Given the description of an element on the screen output the (x, y) to click on. 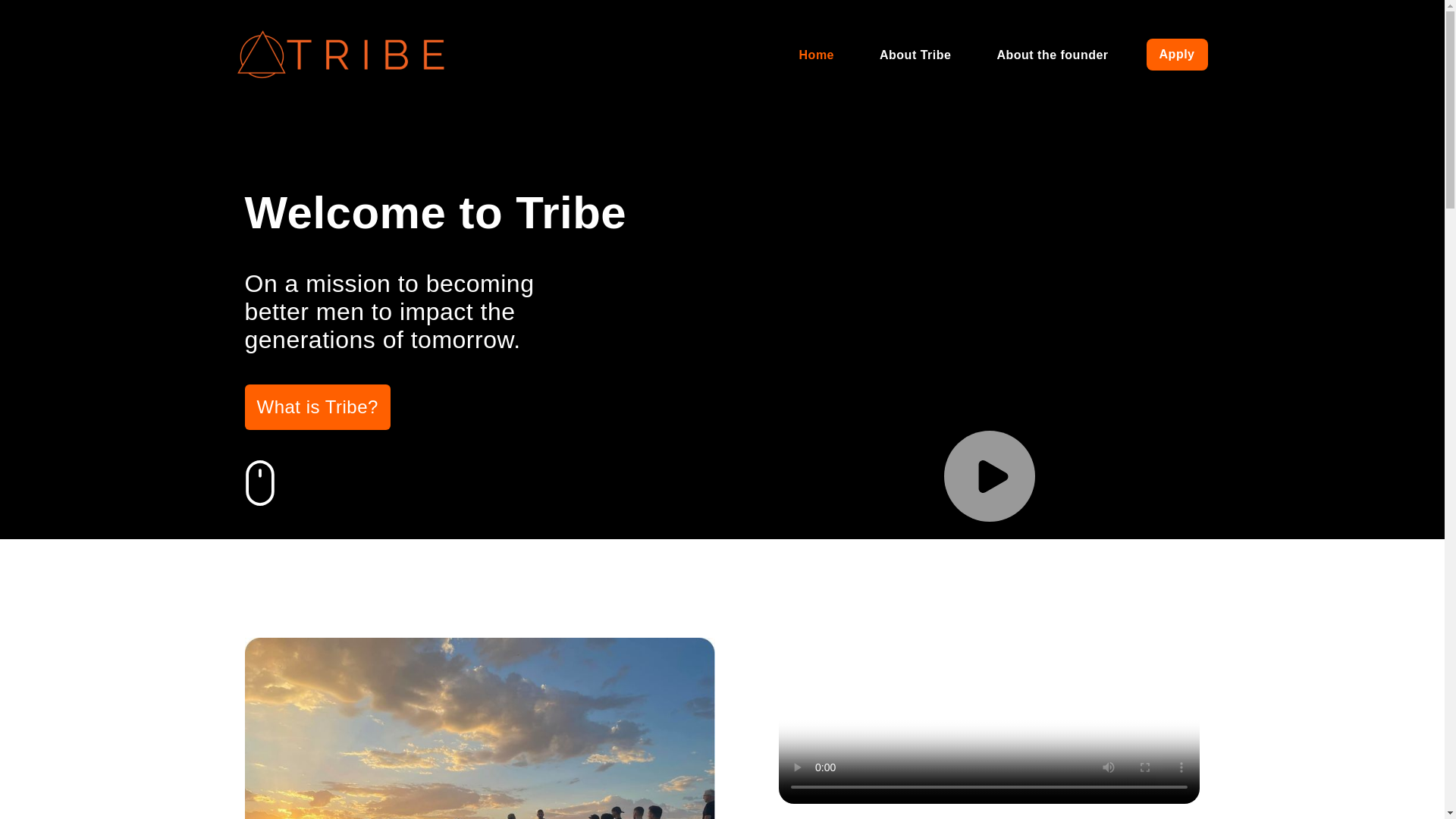
About Tribe (915, 53)
About the founder (1051, 53)
Home (816, 53)
Apply (1177, 53)
What is Tribe? (317, 406)
